Given the description of an element on the screen output the (x, y) to click on. 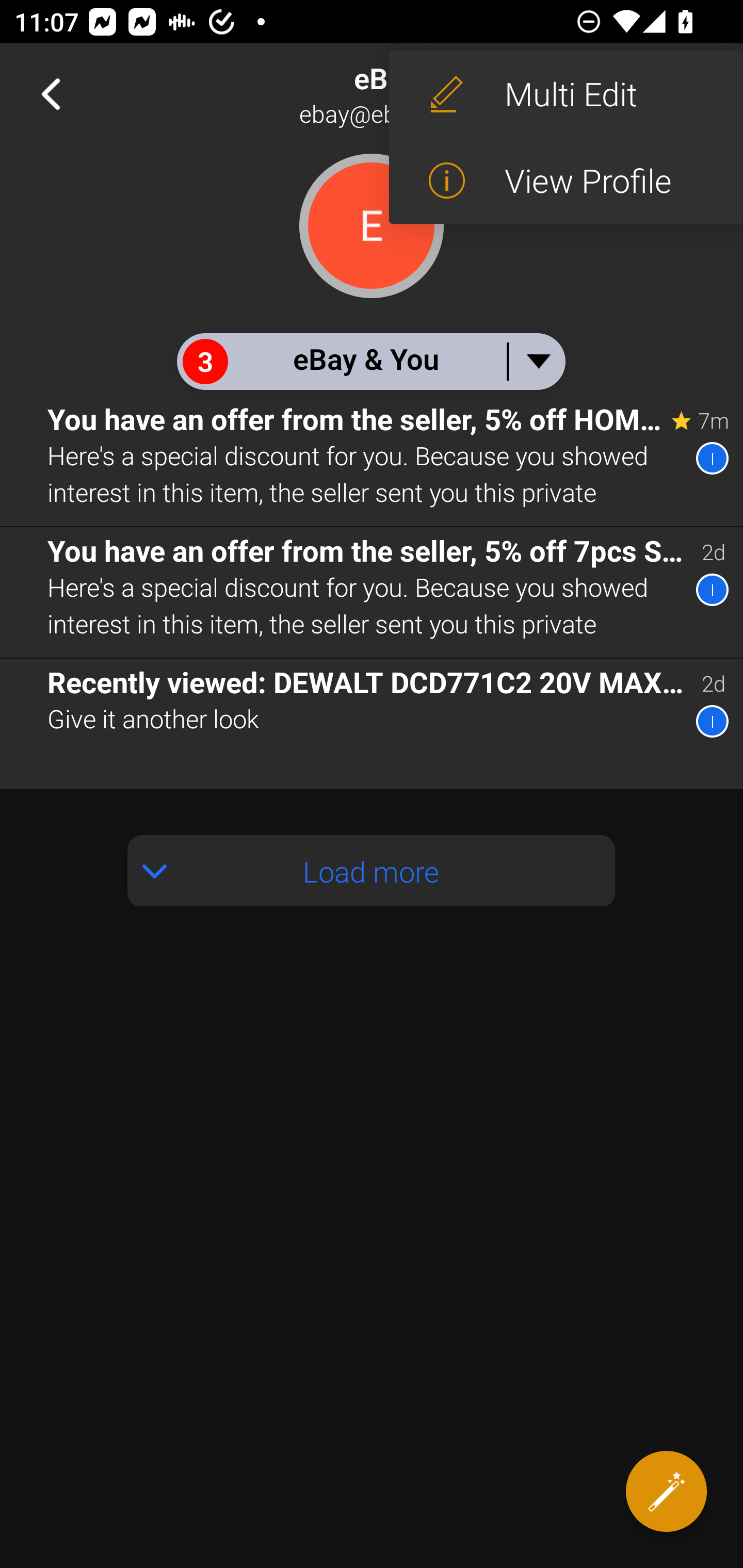
Multi Edit (566, 93)
View Profile (566, 180)
